Given the description of an element on the screen output the (x, y) to click on. 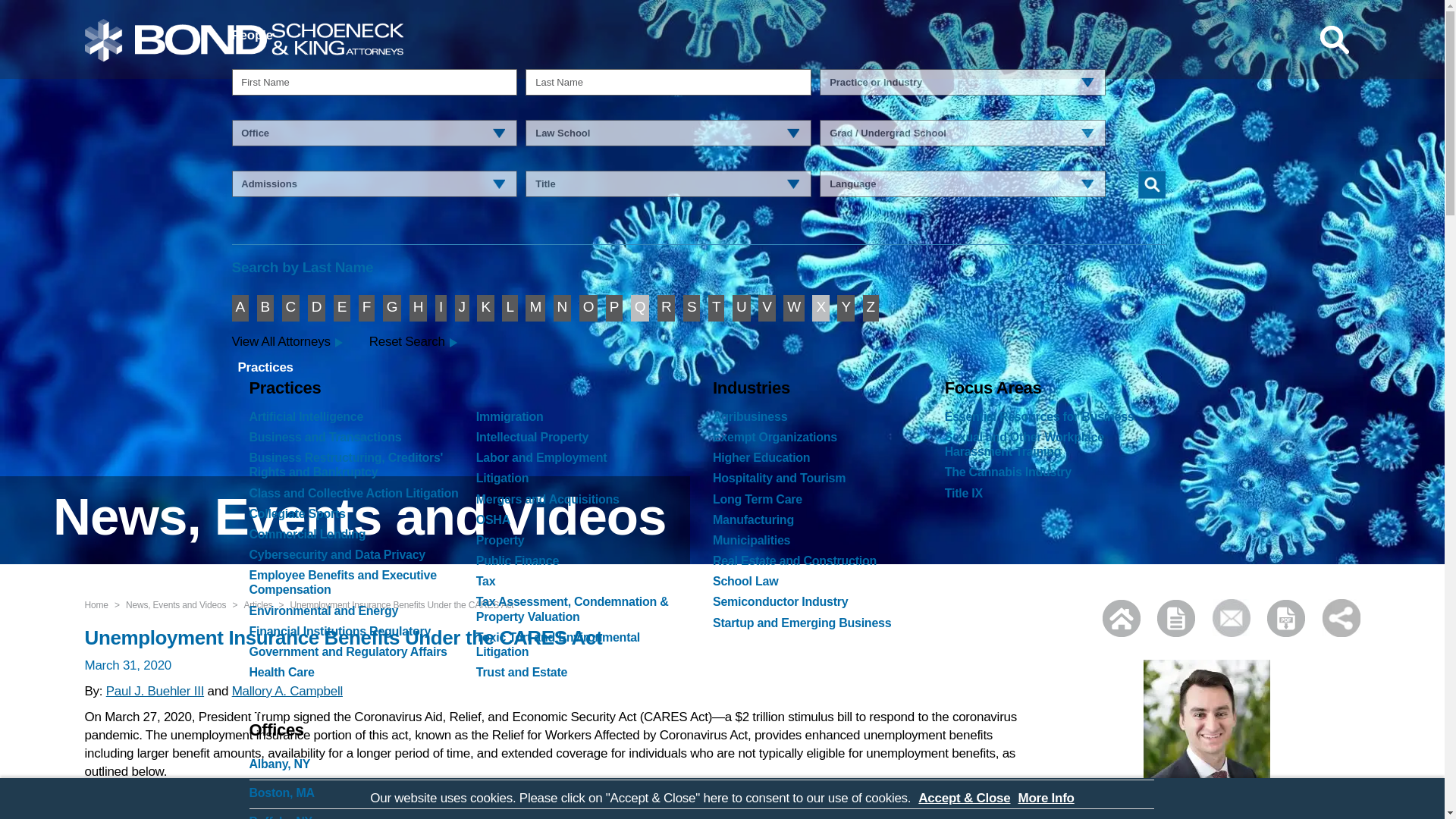
Z (871, 307)
C (290, 307)
Select a Language (962, 183)
H (417, 307)
Reset Search (424, 342)
Select a Position (667, 183)
Business and Transactions (355, 439)
First Name (373, 81)
F (366, 307)
T (715, 307)
Artificial Intelligence (355, 419)
Y (845, 307)
Select an Undergrad School (962, 132)
Select an Office (373, 132)
Q (639, 307)
